Given the description of an element on the screen output the (x, y) to click on. 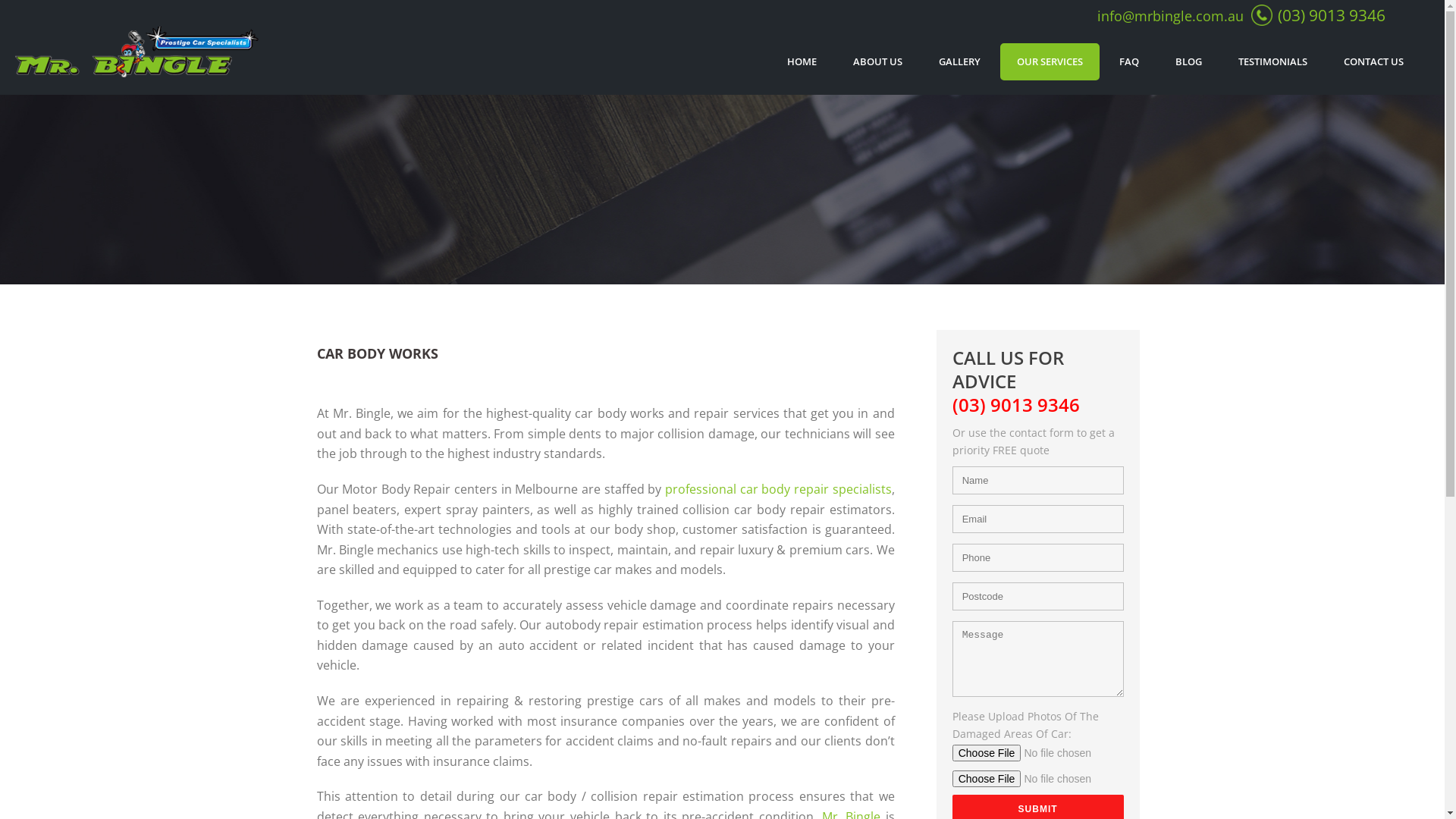
ABOUT US Element type: text (877, 61)
HOME Element type: text (801, 61)
CONTACT US Element type: text (1373, 61)
GALLERY Element type: text (959, 61)
(03) 9013 9346 Element type: text (1331, 14)
Panel Beaters & Smash Repairs Melbourne Element type: hover (136, 49)
TESTIMONIALS Element type: text (1272, 61)
BLOG Element type: text (1188, 61)
info@mrbingle.com.au Element type: text (1170, 15)
FAQ Element type: text (1128, 61)
professional car body repair specialists Element type: text (778, 488)
OUR SERVICES Element type: text (1049, 61)
